Given the description of an element on the screen output the (x, y) to click on. 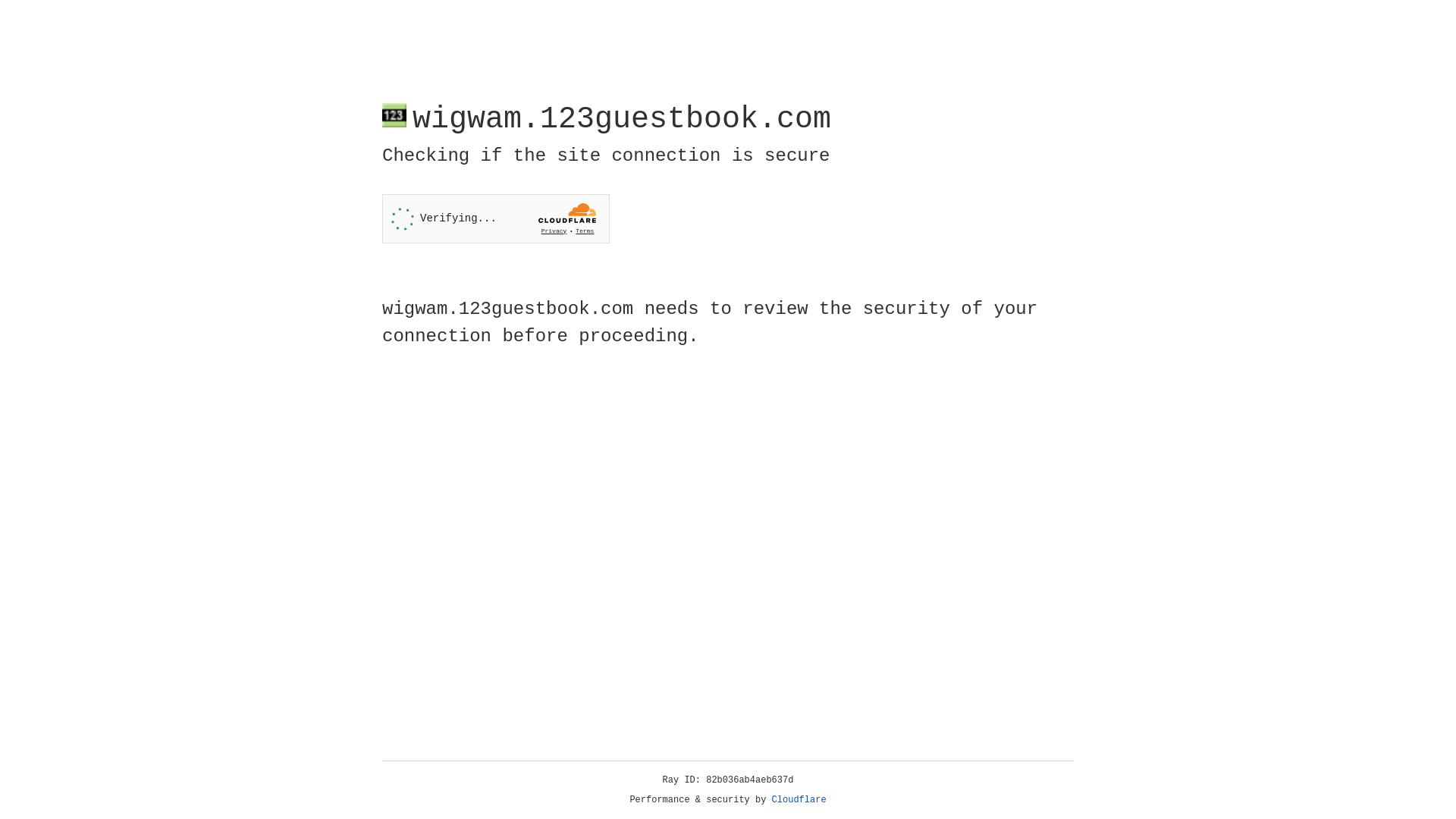
Cloudflare Element type: text (798, 799)
Widget containing a Cloudflare security challenge Element type: hover (495, 218)
